Given the description of an element on the screen output the (x, y) to click on. 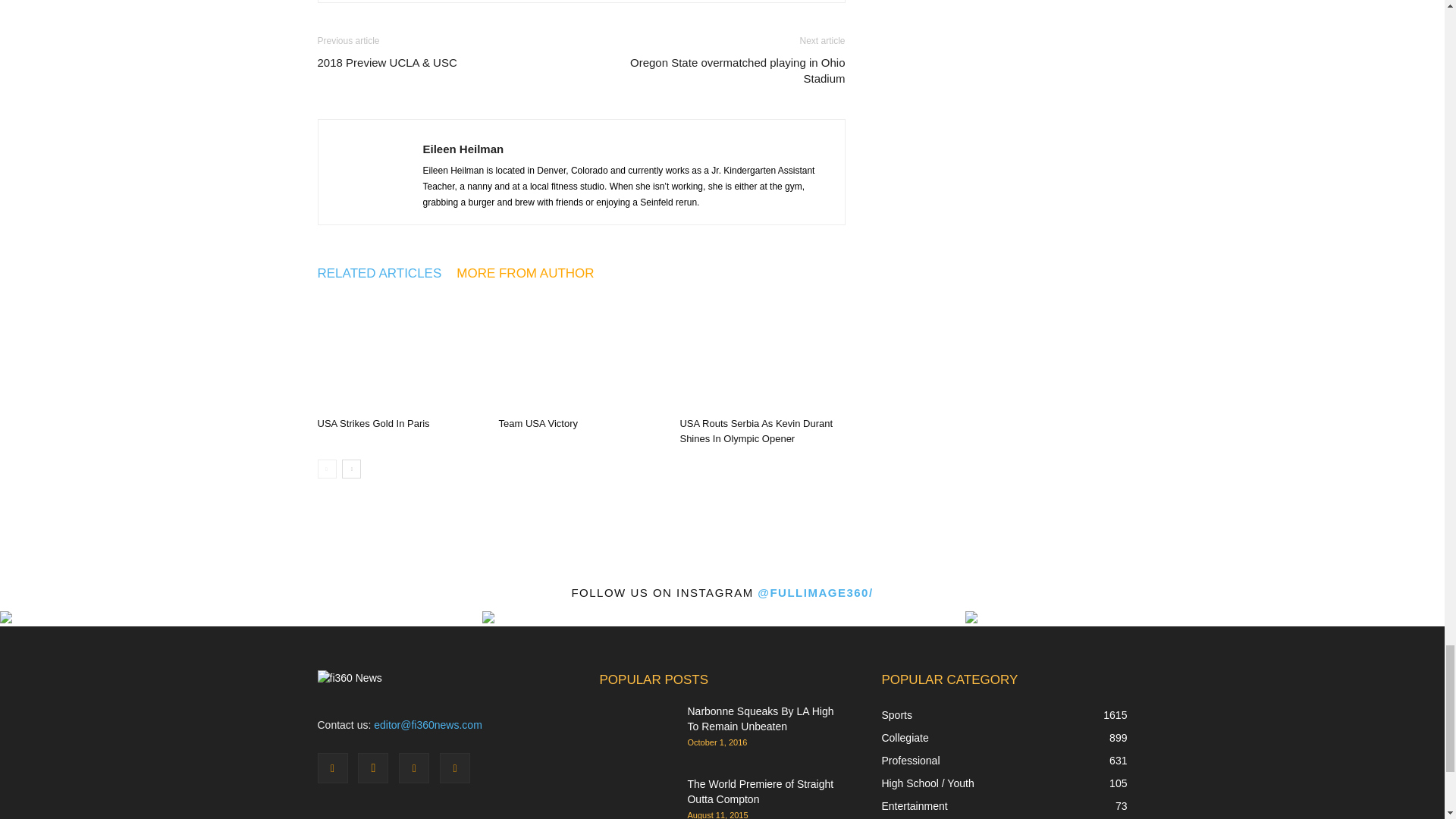
USA Strikes Gold In Paris (373, 423)
Team USA Victory (537, 423)
USA Strikes Gold In Paris (399, 354)
USA Routs Serbia As Kevin Durant Shines In Olympic Opener (761, 354)
Team USA Victory (580, 354)
